Given the description of an element on the screen output the (x, y) to click on. 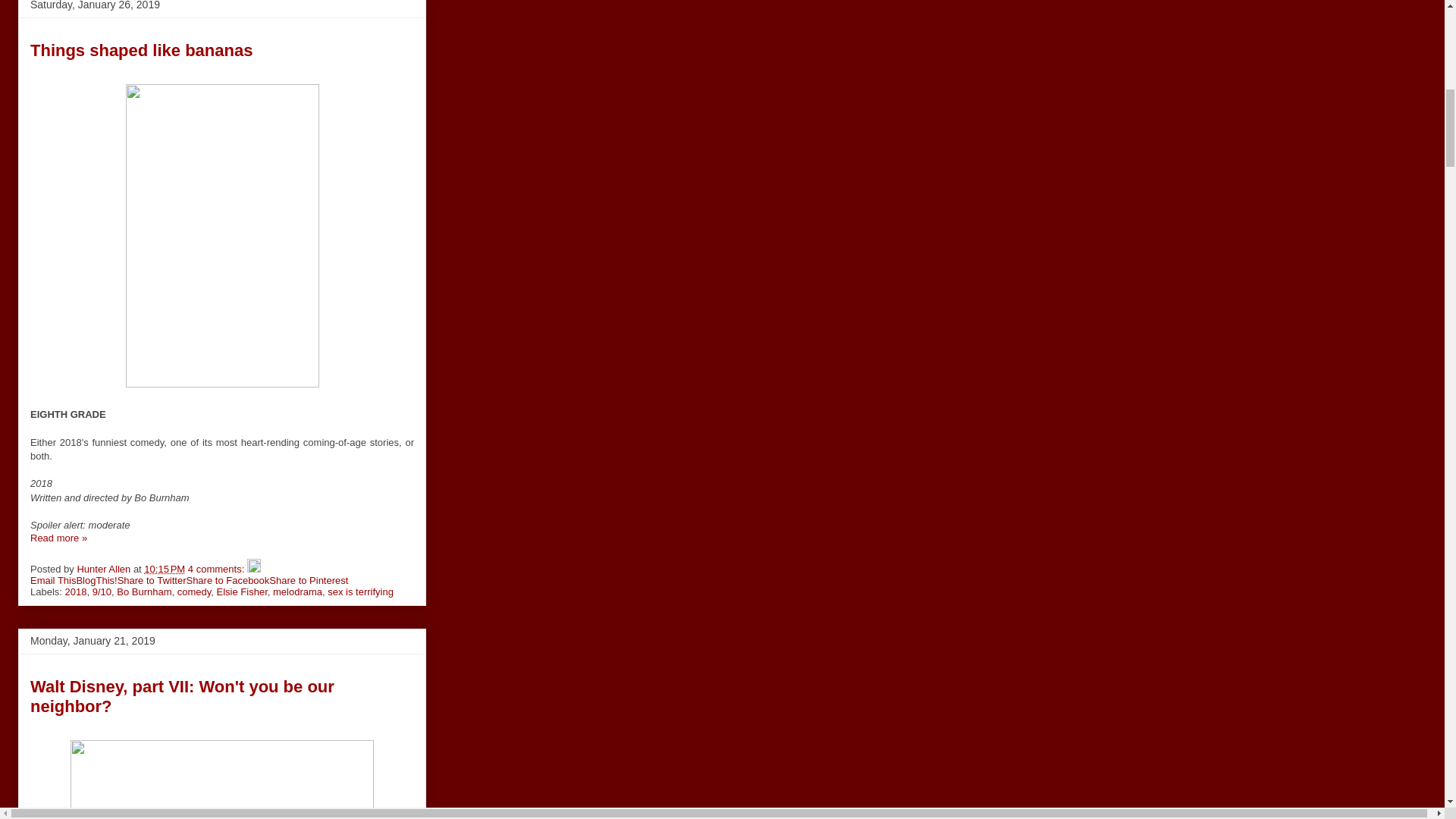
Edit Post (253, 568)
BlogThis! (95, 580)
permanent link (164, 568)
Share to Twitter (151, 580)
BlogThis! (95, 580)
Share to Pinterest (308, 580)
4 comments: (217, 568)
author profile (104, 568)
Email This (52, 580)
Things shaped like bananas (140, 49)
Share to Facebook (227, 580)
Things shaped like bananas (58, 537)
Email This (52, 580)
2018 (76, 591)
